Given the description of an element on the screen output the (x, y) to click on. 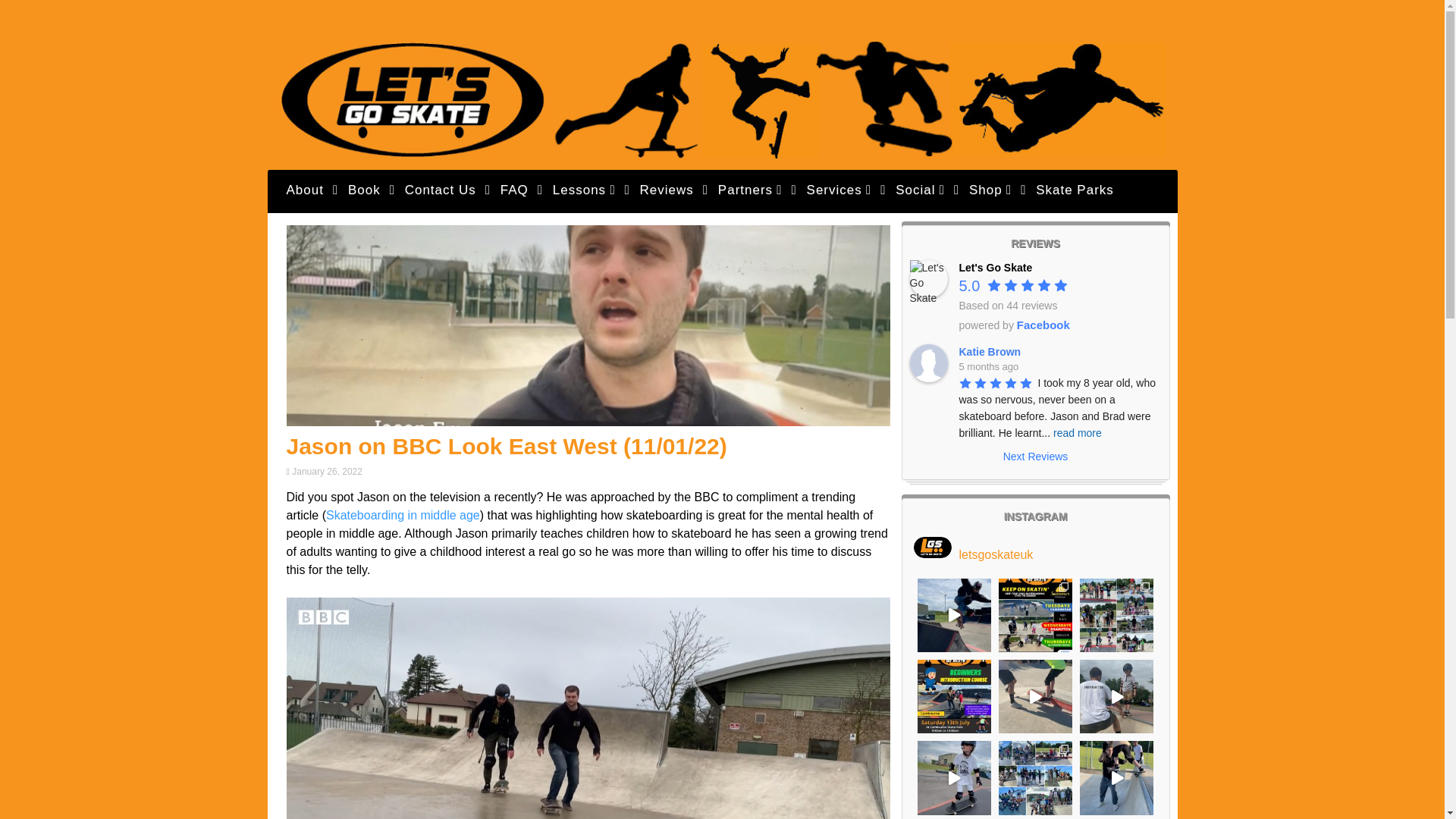
Contact Us (439, 189)
FAQ (514, 189)
Social (919, 189)
Katie Brown (928, 362)
Let's Go Skate (722, 154)
Lessons (584, 189)
Book (363, 189)
Let's Go Skate (928, 279)
Shop (989, 189)
Services (839, 189)
Reviews (666, 189)
Partners (750, 189)
Skate Parks (1074, 189)
About (305, 189)
